Given the description of an element on the screen output the (x, y) to click on. 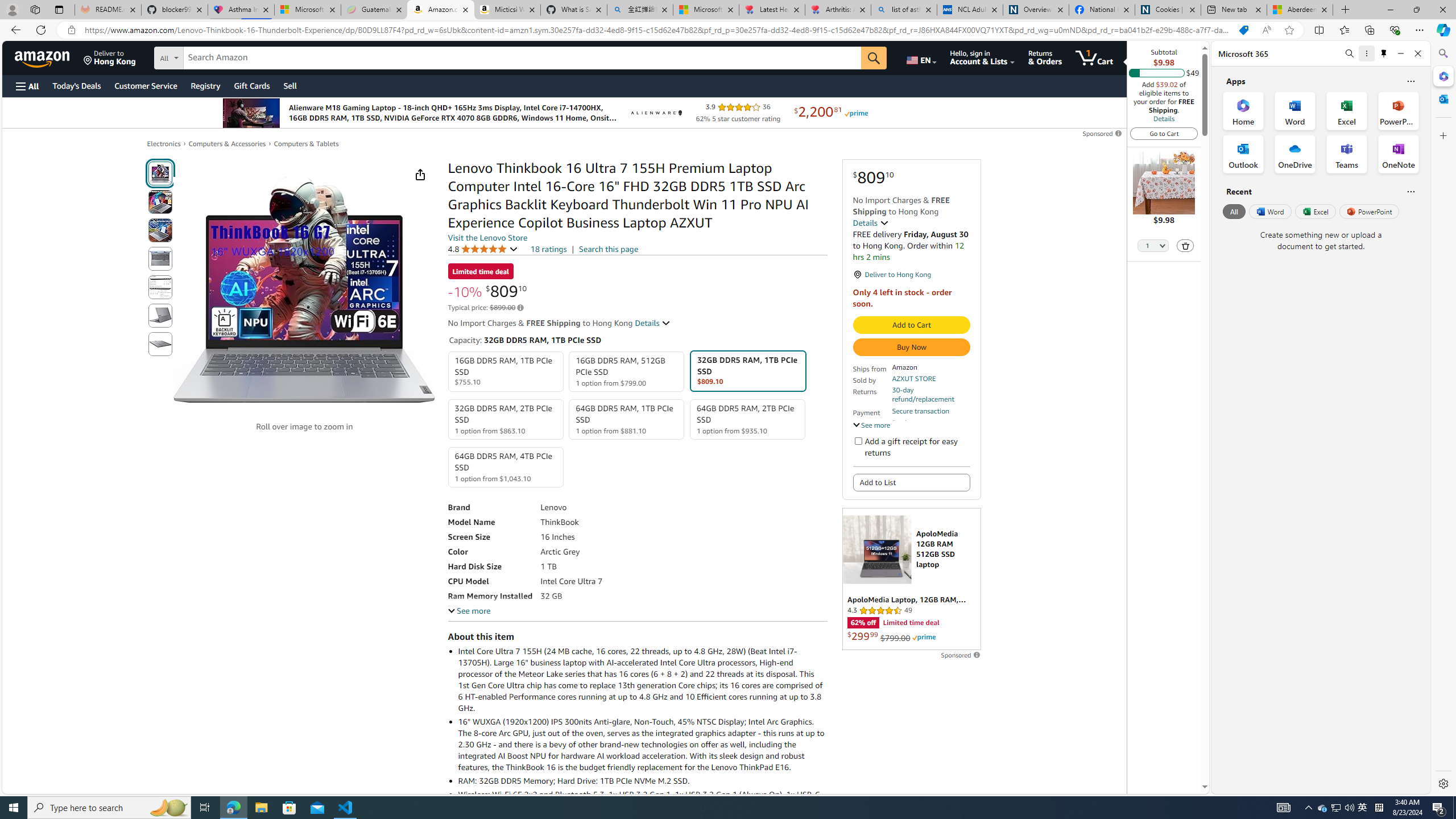
Customer Service (145, 85)
16GB DDR5 RAM, 1TB PCIe SSD $755.10 (505, 371)
Word Office App (1295, 110)
Excel (1315, 210)
Registry (205, 85)
NCL Adult Asthma Inhaler Choice Guideline (969, 9)
Search Amazon (522, 57)
Secure transaction (920, 411)
Deliver to Hong Kong (109, 57)
Close Outlook pane (1442, 98)
